Given the description of an element on the screen output the (x, y) to click on. 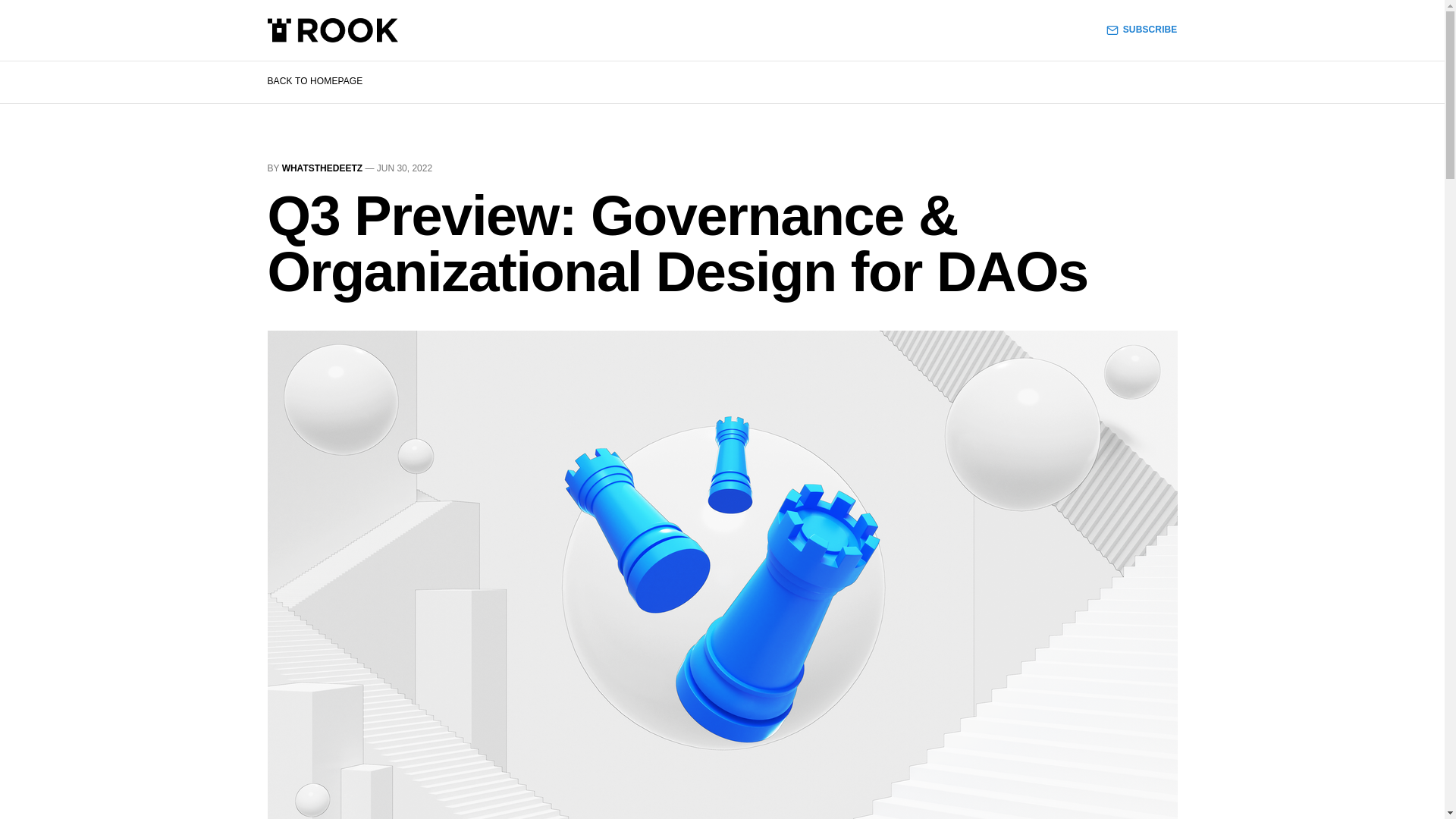
WHATSTHEDEETZ (322, 167)
BACK TO HOMEPAGE (314, 81)
SUBSCRIBE (1141, 29)
